Given the description of an element on the screen output the (x, y) to click on. 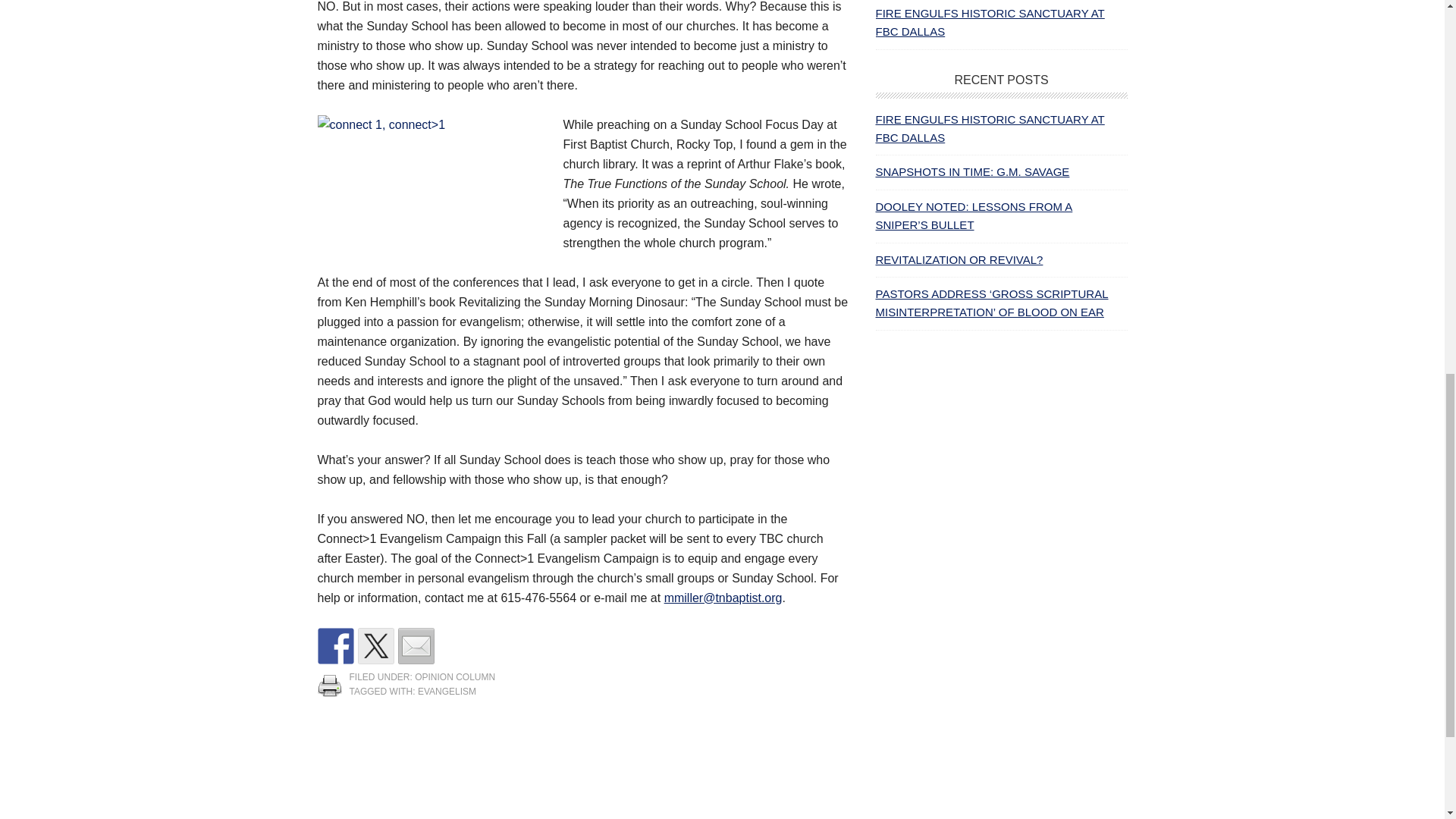
FIRE ENGULFS HISTORIC SANCTUARY AT FBC DALLAS (989, 21)
EVANGELISM (446, 691)
Share by email (415, 646)
SNAPSHOTS IN TIME: G.M. SAVAGE (971, 171)
FIRE ENGULFS HISTORIC SANCTUARY AT FBC DALLAS (989, 128)
Share on Twitter (376, 646)
OPINION COLUMN (454, 676)
Share on Facebook (335, 646)
REVITALIZATION OR REVIVAL? (958, 259)
